Given the description of an element on the screen output the (x, y) to click on. 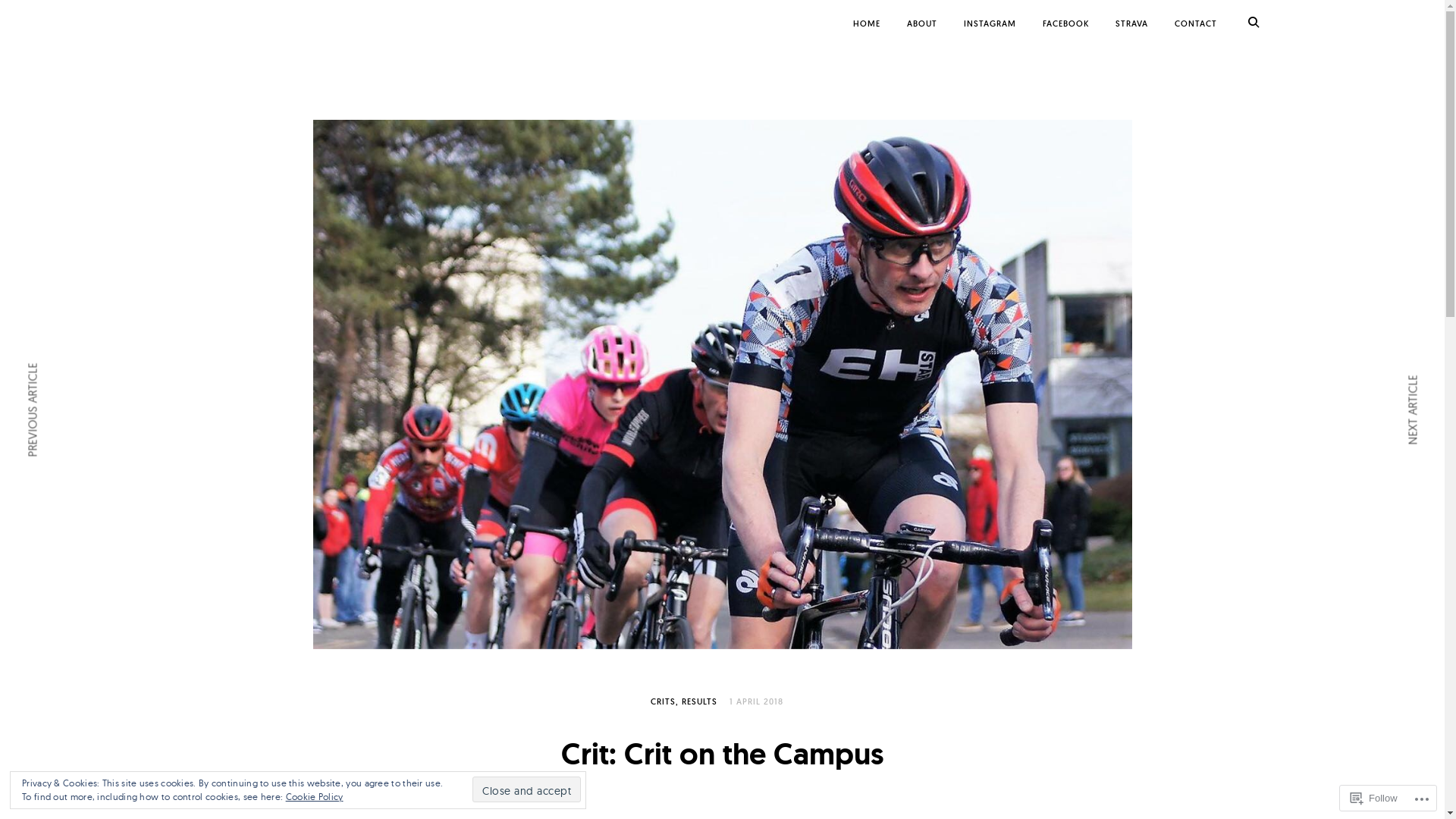
FACEBOOK Element type: text (1064, 23)
ABOUT Element type: text (921, 23)
Follow Element type: text (1373, 797)
HOME Element type: text (865, 23)
CRITS Element type: text (664, 701)
EH Star Element type: text (220, 36)
1 APRIL 2018 Element type: text (756, 701)
CONTACT Element type: text (1194, 23)
Close and accept Element type: text (526, 789)
INSTAGRAM Element type: text (989, 23)
Search Element type: text (51, 17)
RESULTS Element type: text (699, 701)
Cookie Policy Element type: text (314, 796)
STRAVA Element type: text (1130, 23)
